Given the description of an element on the screen output the (x, y) to click on. 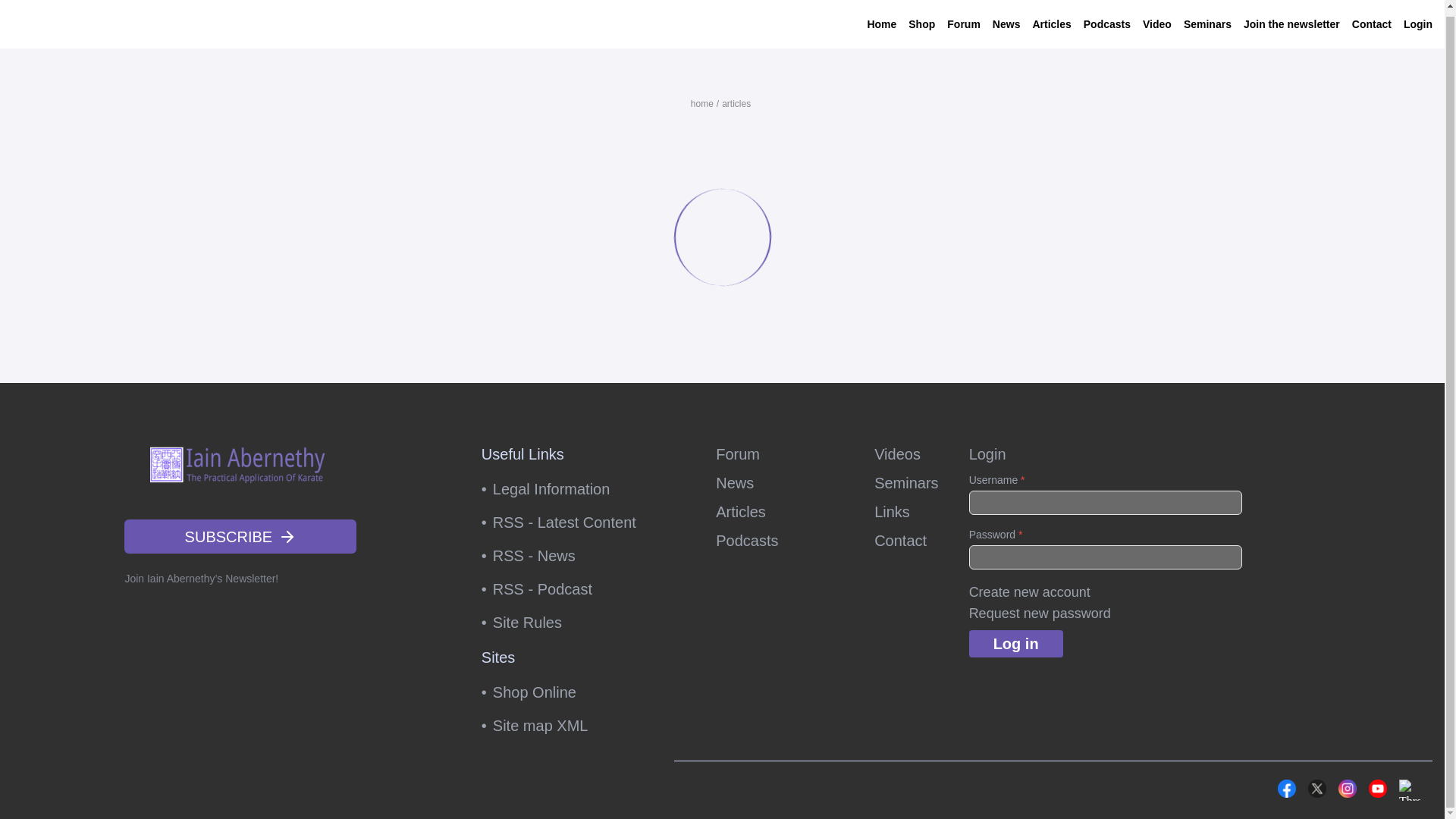
Podcasts (780, 540)
Site Rules (568, 622)
Create new account (1029, 591)
Legal Information (568, 489)
Podcasts (1107, 19)
Join the newsletter (1291, 19)
Twitter Follow Button (1203, 786)
Site map XML (568, 725)
Log in (1015, 643)
RSS - Latest Content (568, 522)
Contact (1371, 19)
News (1006, 19)
SUBSCRIBE (239, 536)
Request new password (1039, 613)
News (780, 482)
